Given the description of an element on the screen output the (x, y) to click on. 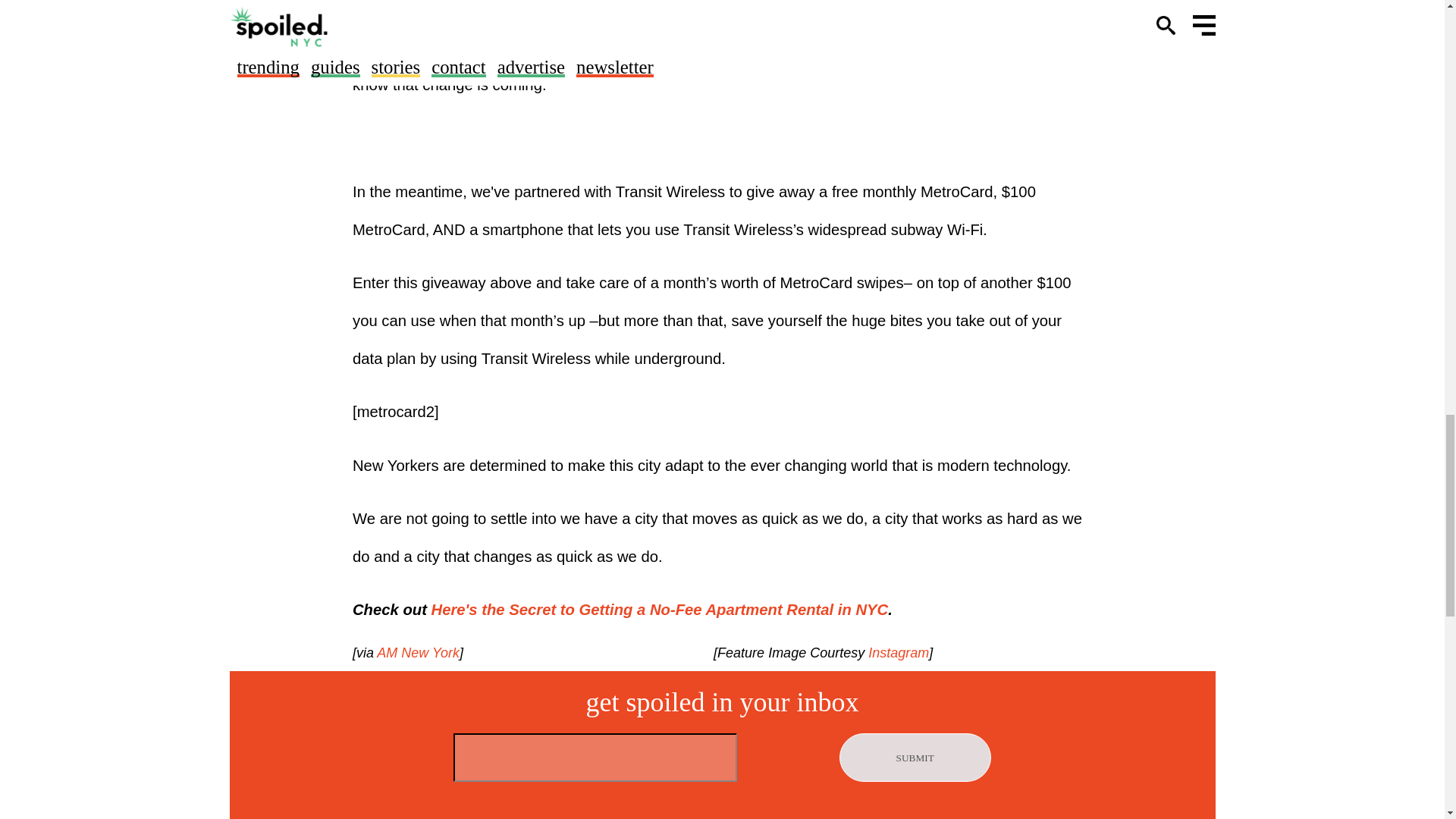
SUBMIT (915, 757)
Instagram (896, 652)
AM New York (417, 652)
